Given the description of an element on the screen output the (x, y) to click on. 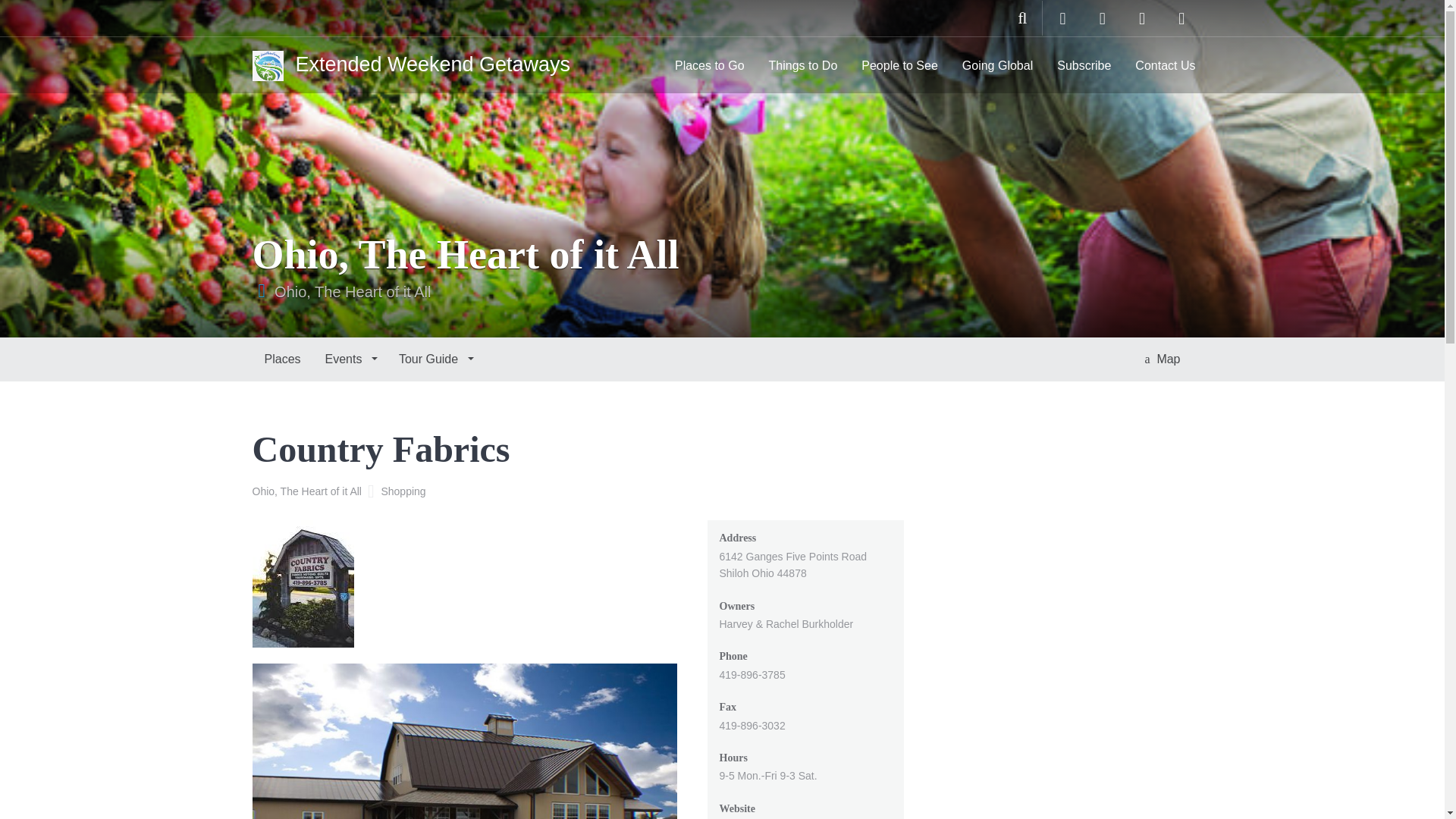
Ohio, The Heart of it All (352, 291)
Tour Guide (435, 359)
 Extended Weekend Getaways (410, 63)
Shopping (402, 491)
Going Global (997, 64)
Ohio, The Heart of it All (308, 491)
People to See (899, 64)
Things to Do (803, 64)
Places to Go (709, 64)
Contact Us (1164, 64)
Extended Weekend Getaways (410, 63)
Events (350, 359)
Subscribe (1083, 64)
Places (282, 359)
  Map (1162, 359)
